Given the description of an element on the screen output the (x, y) to click on. 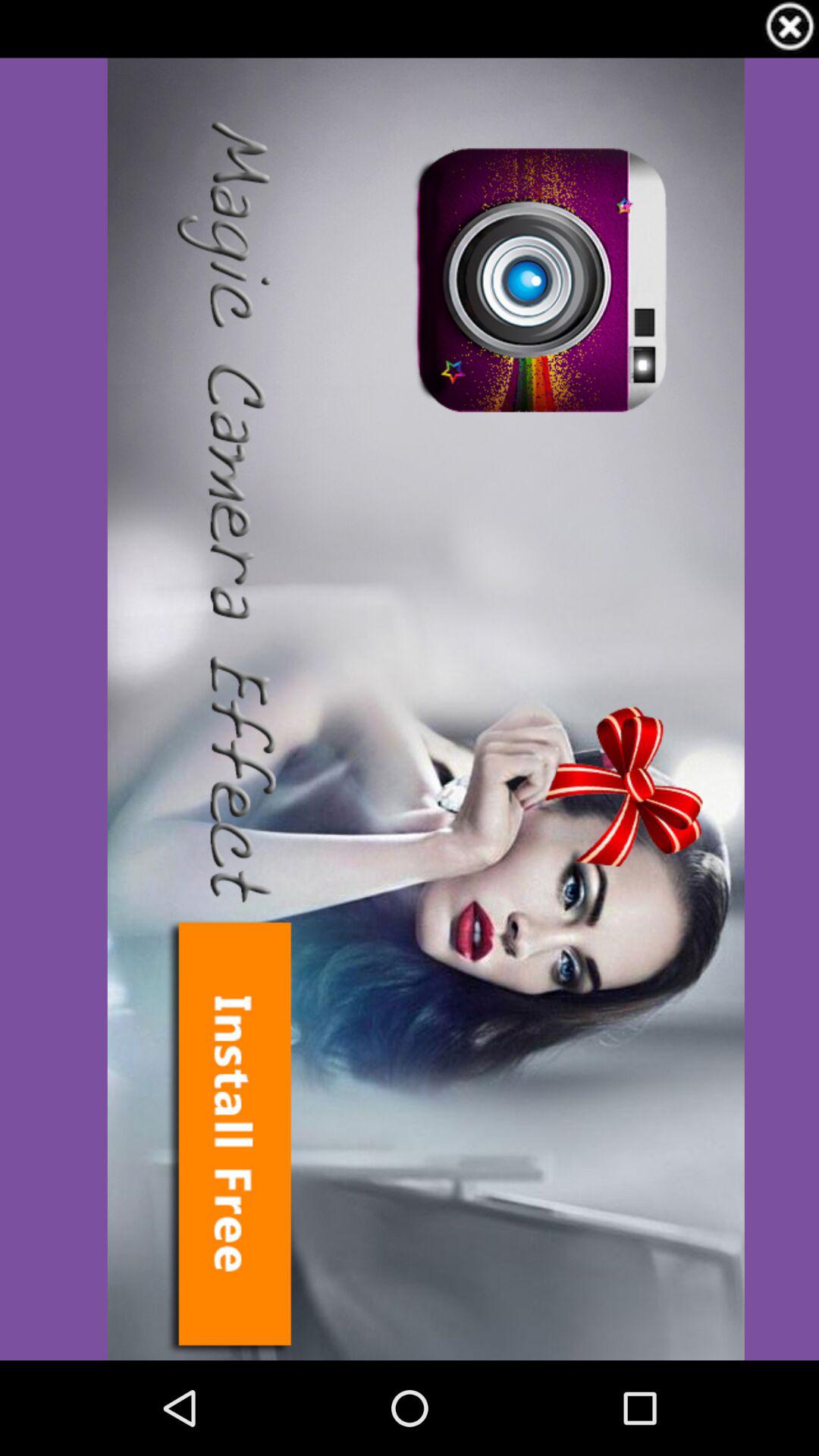
close (789, 29)
